Given the description of an element on the screen output the (x, y) to click on. 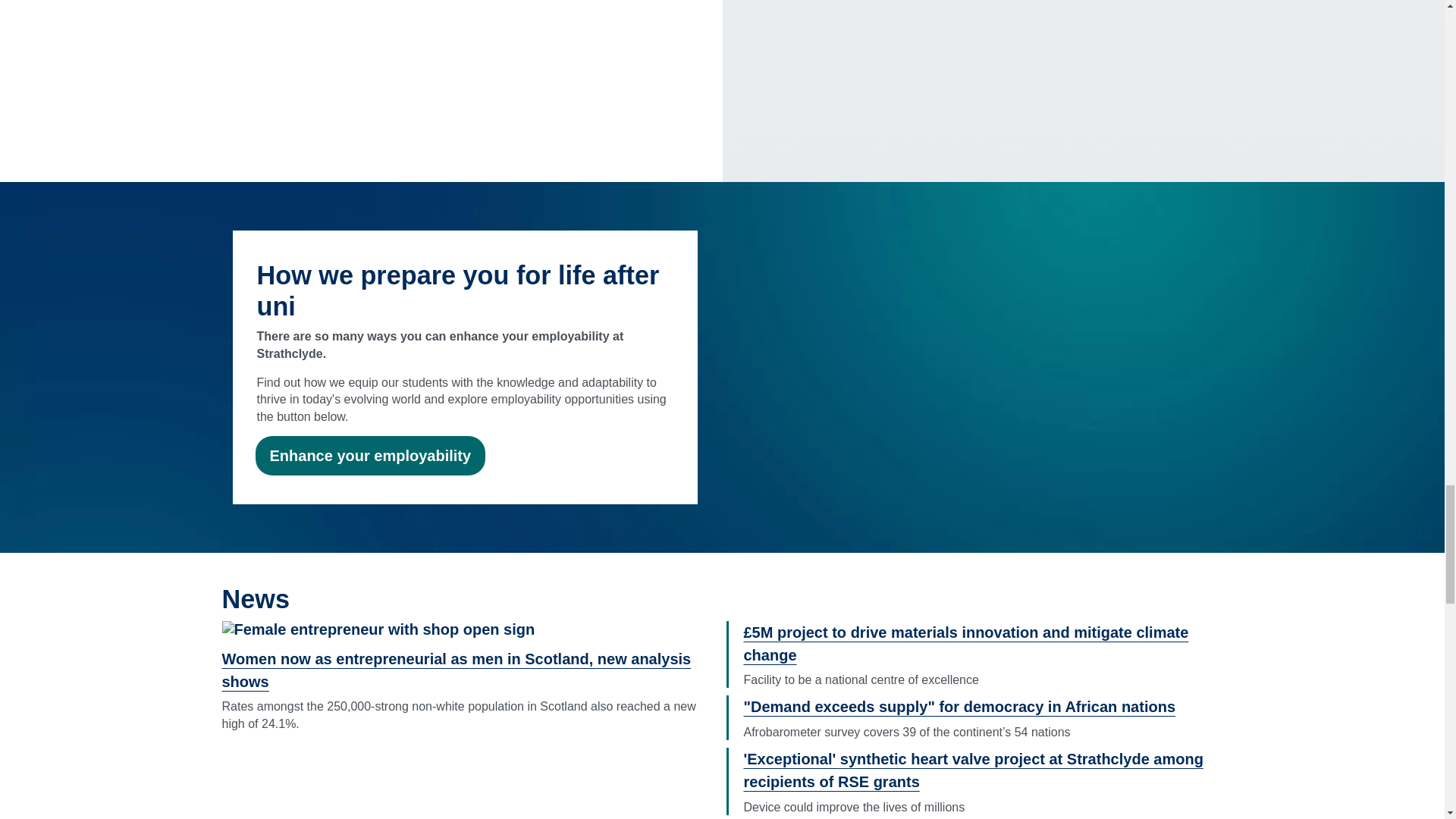
Female entrepreneur with shop open sign (377, 629)
Video - Employability 916628623 (976, 361)
